Given the description of an element on the screen output the (x, y) to click on. 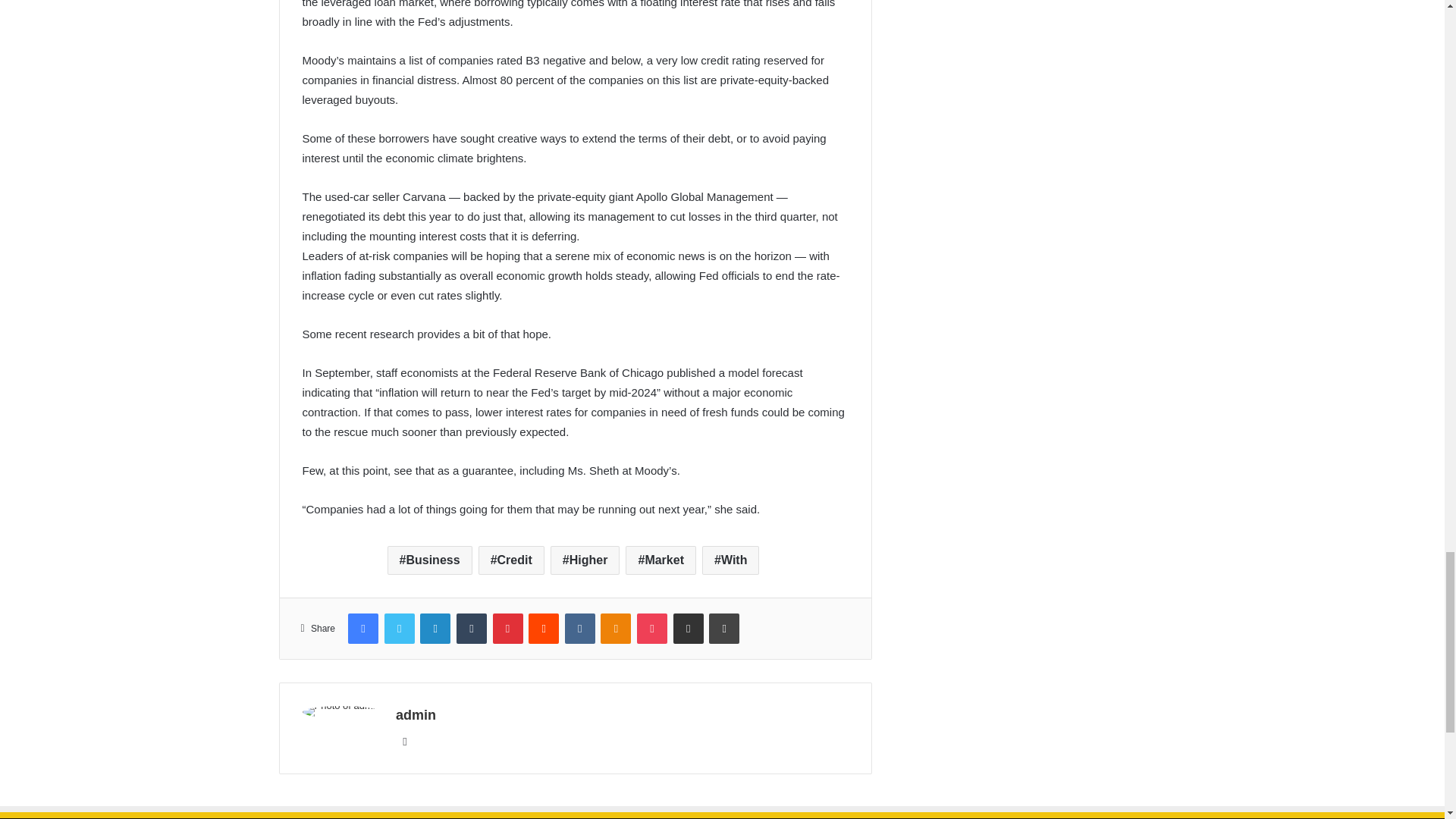
Business (429, 560)
